Given the description of an element on the screen output the (x, y) to click on. 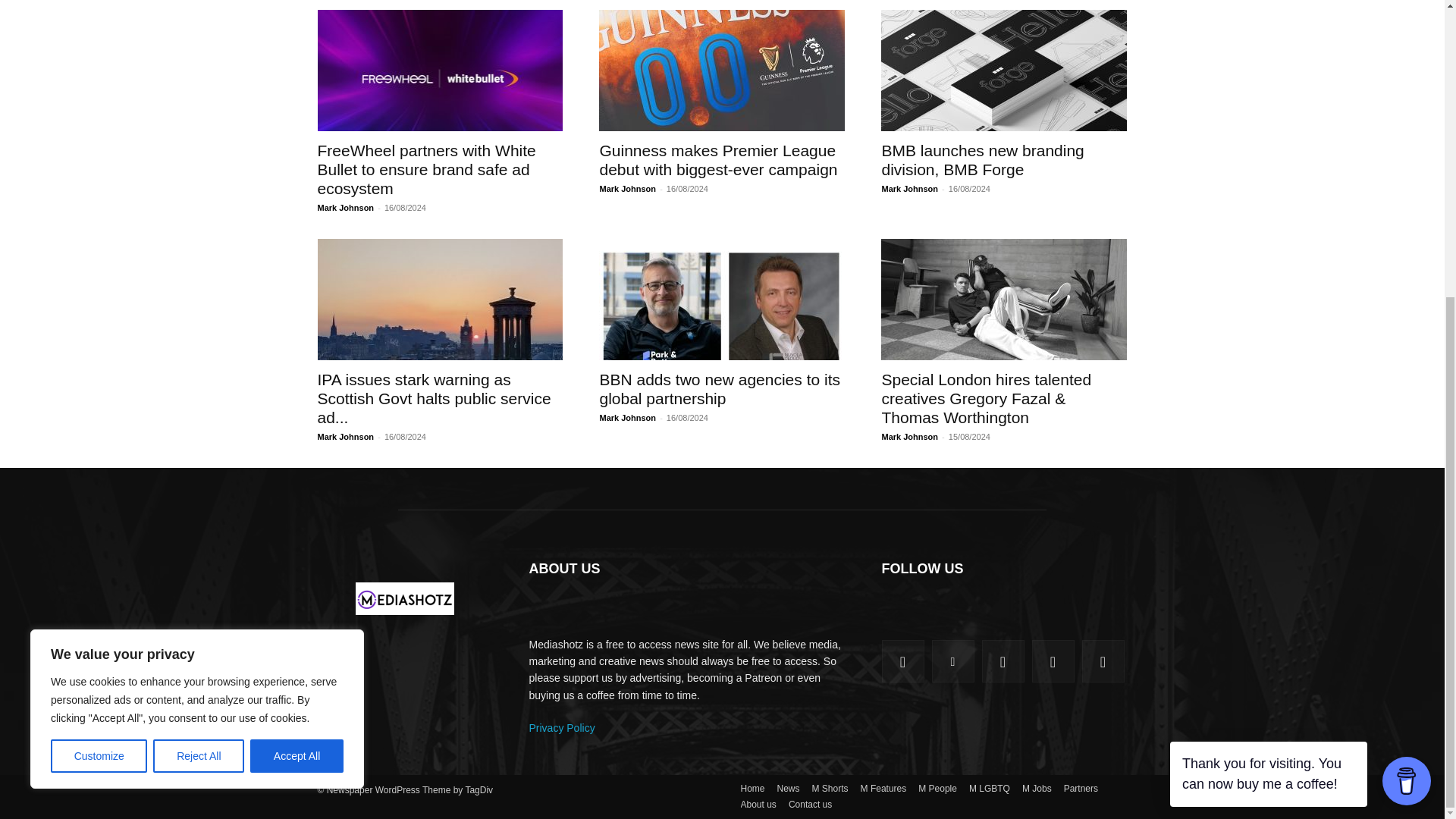
Accept All (296, 296)
Customize (98, 296)
Reject All (198, 296)
